Given the description of an element on the screen output the (x, y) to click on. 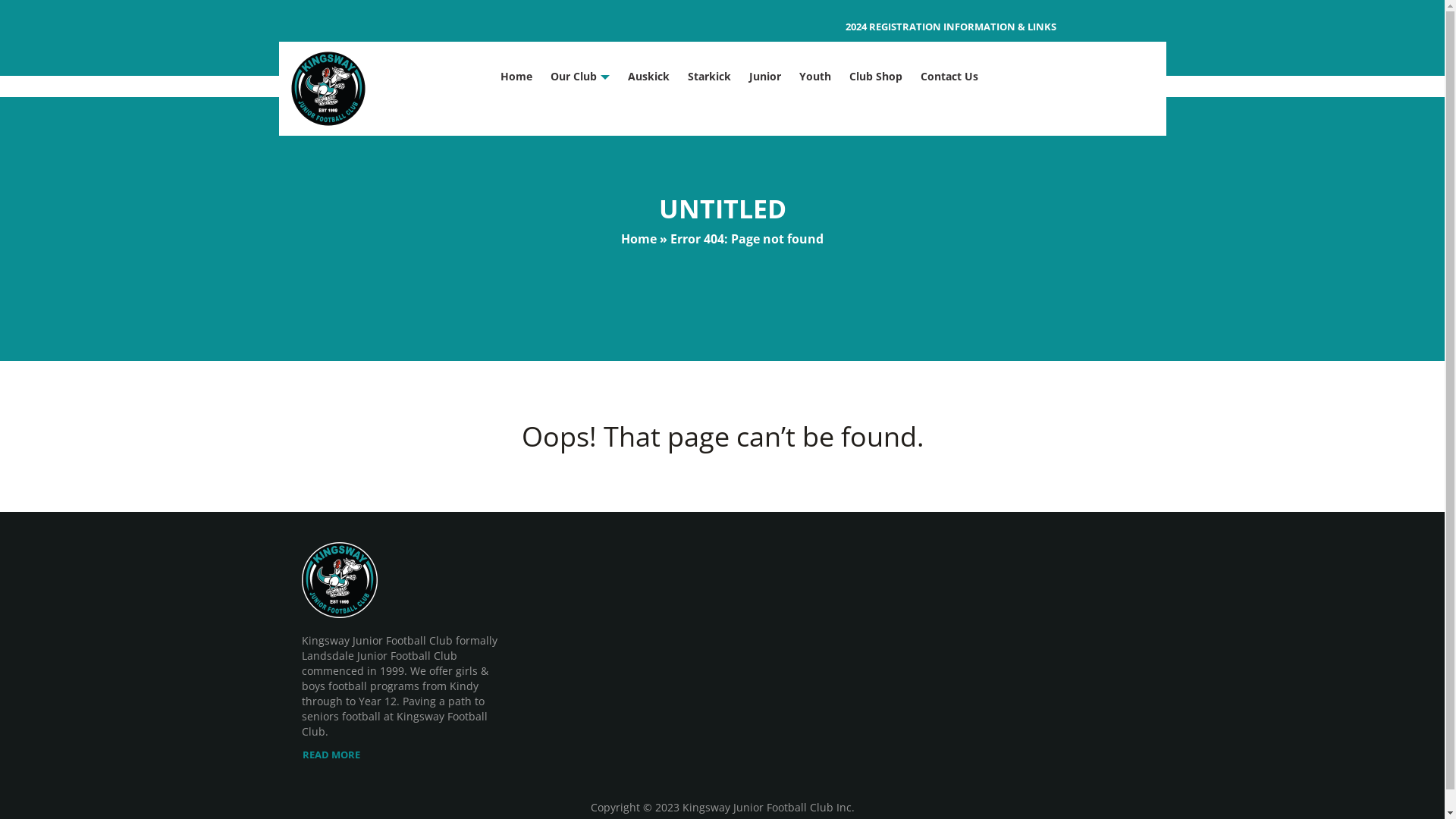
Our Club Element type: text (573, 76)
Contact Us Element type: text (949, 76)
Auskick Element type: text (648, 76)
Kingsway Junior Football Club Inc. Element type: text (768, 807)
Starkick Element type: text (709, 76)
Club Shop Element type: text (875, 76)
READ MORE Element type: text (403, 754)
Youth Element type: text (815, 76)
Home Element type: text (516, 76)
Junior Element type: text (765, 76)
Home Element type: text (638, 238)
2024 REGISTRATION INFORMATION & LINKS Element type: text (950, 26)
